Given the description of an element on the screen output the (x, y) to click on. 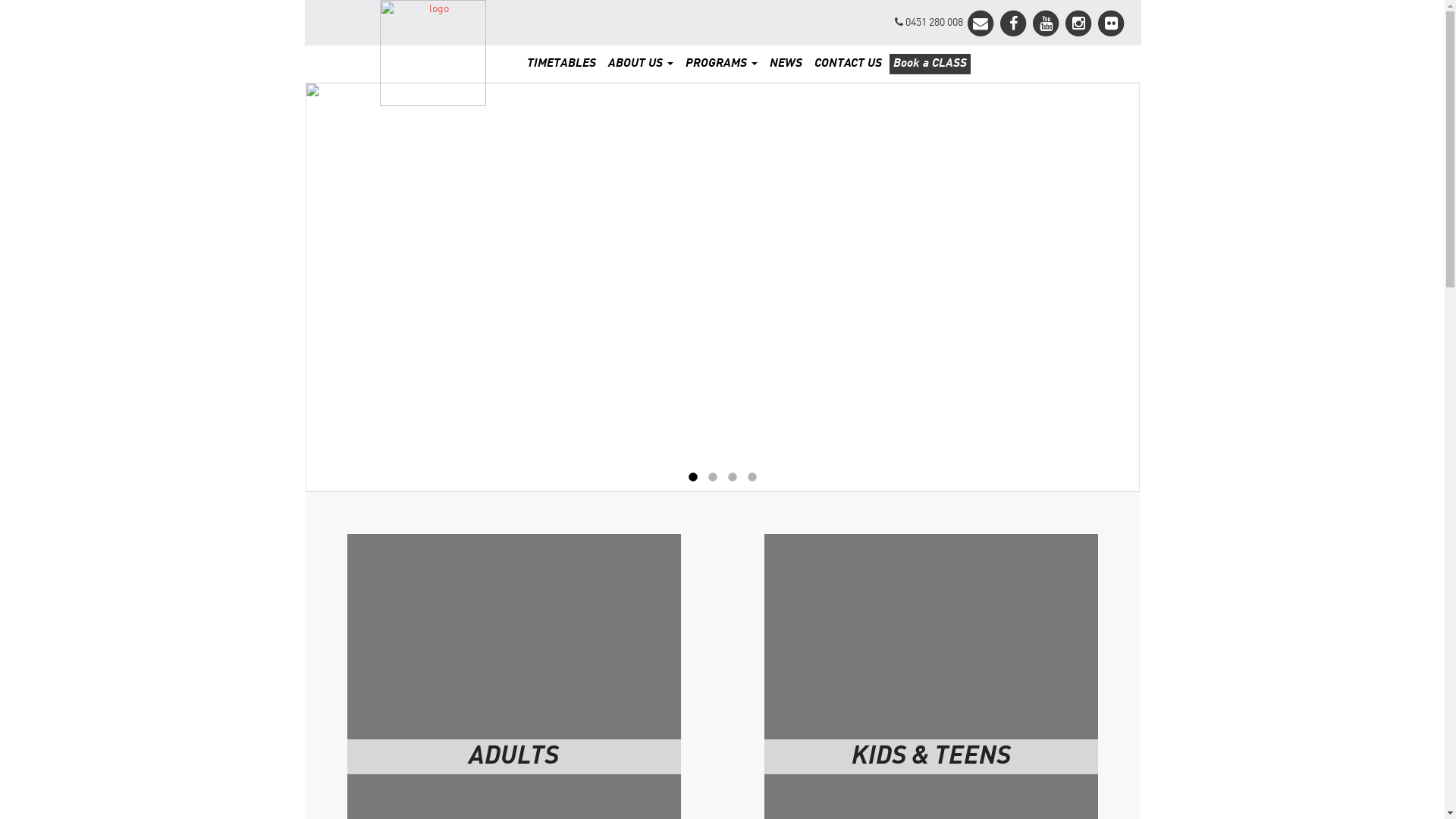
Book a CLASS Element type: text (929, 63)
TIMETABLES Element type: text (561, 63)
PROGRAMS Element type: text (721, 63)
CONTACT US Element type: text (847, 63)
0451 280 008 Element type: text (928, 22)
ABOUT US Element type: text (640, 63)
NEWS Element type: text (785, 63)
